Given the description of an element on the screen output the (x, y) to click on. 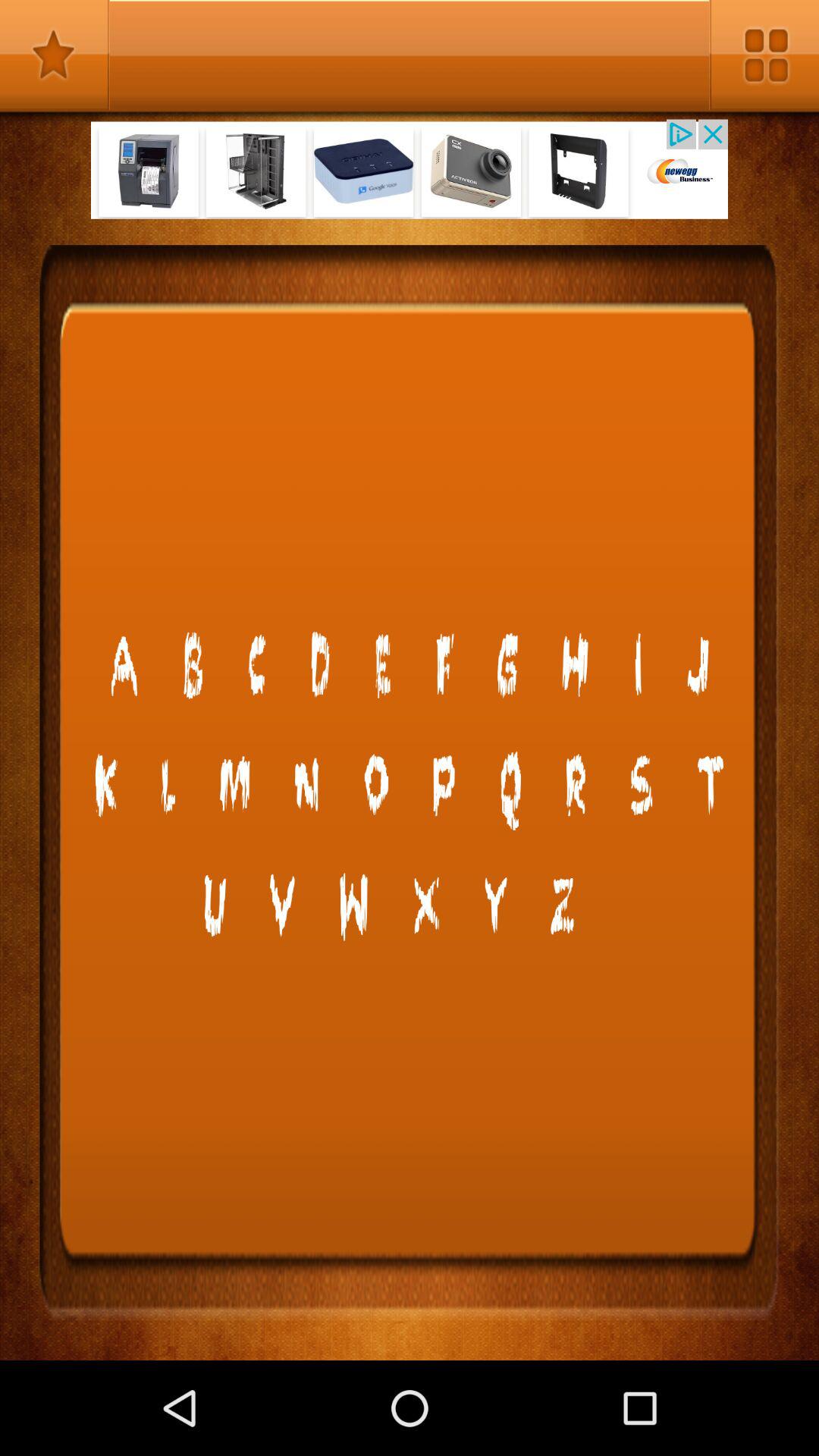
bookmark (54, 54)
